Given the description of an element on the screen output the (x, y) to click on. 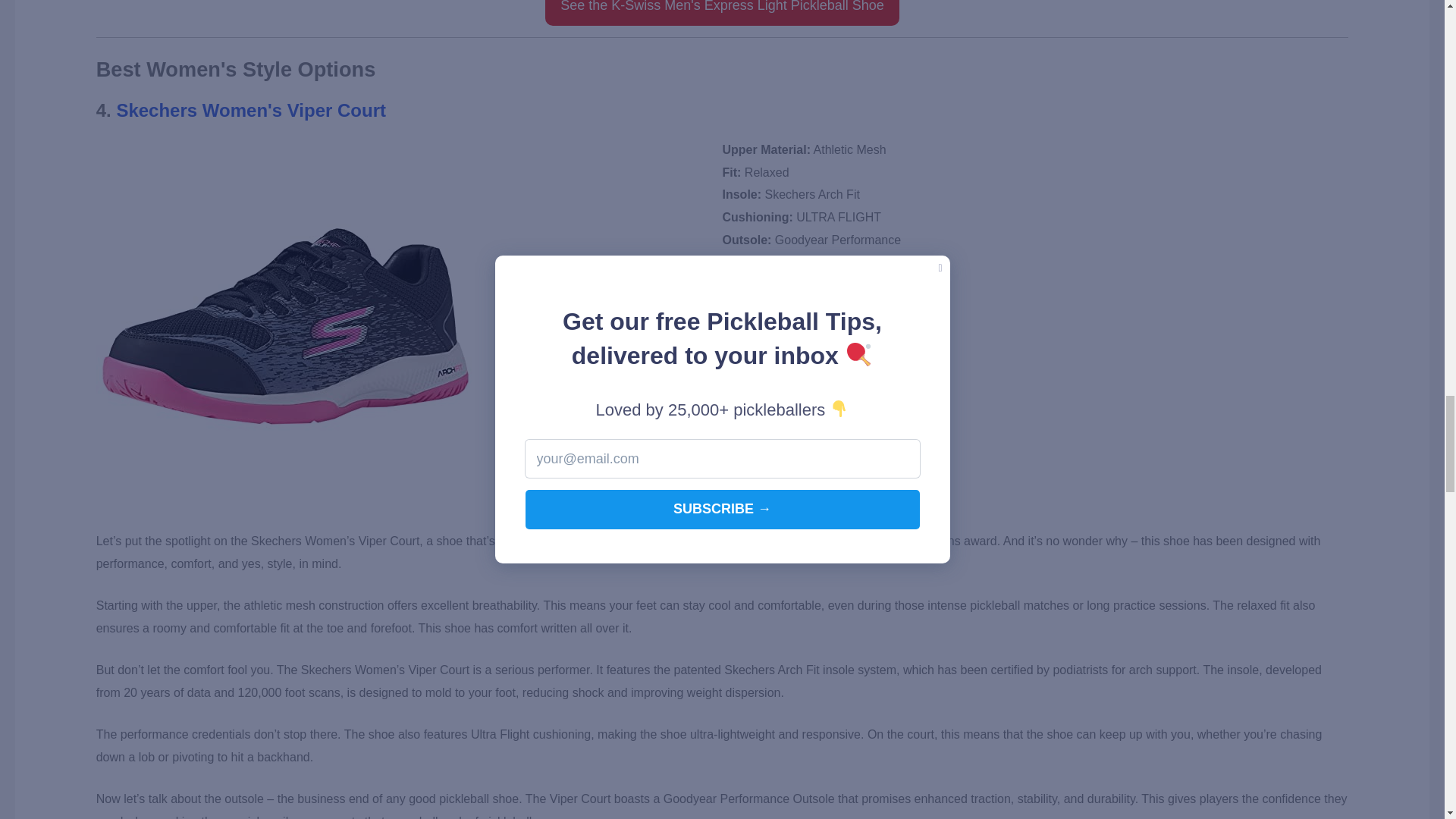
See the K-Swiss Men's Express Light Pickleball Shoe (721, 12)
Skechers Women's Viper Court (250, 109)
See the K-Swiss Men's Express Light Pickleball Shoe (721, 12)
